Given the description of an element on the screen output the (x, y) to click on. 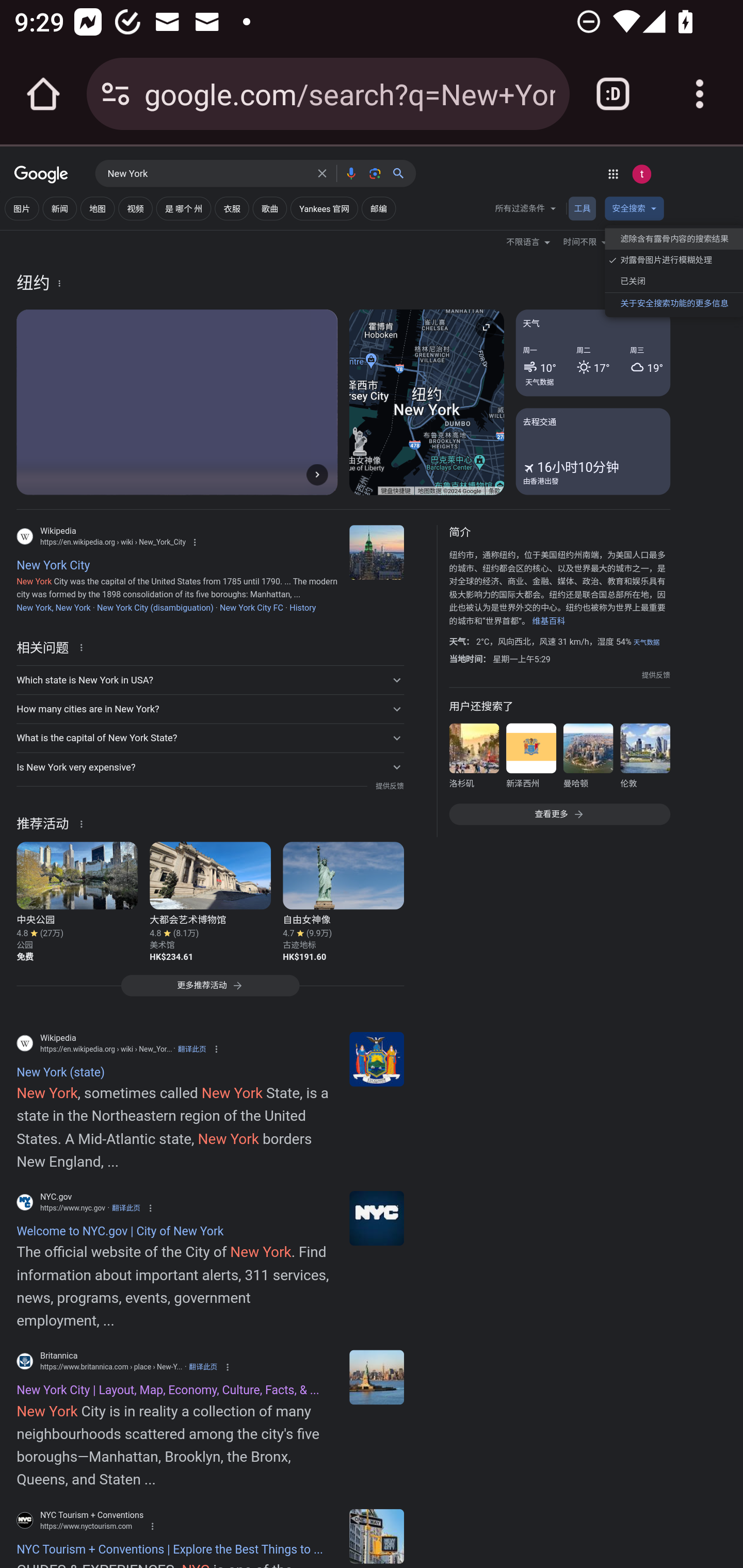
Open the home page (43, 93)
Connection is secure (115, 93)
Switch or close tabs (612, 93)
Customize and control Google Chrome (699, 93)
清除 (321, 172)
按语音搜索 (350, 172)
按图搜索 (374, 172)
搜索 (402, 172)
Google 应用 (612, 173)
Google 账号： test appium (testappium002@gmail.com) (641, 173)
Google (41, 175)
New York (207, 173)
图片 (21, 207)
新闻 (58, 207)
地图 (97, 207)
视频 (135, 207)
添加“是 哪个 州” 是 哪个 州 (183, 207)
添加“衣服” 衣服 (230, 207)
添加“歌曲” 歌曲 (269, 207)
添加“Yankees 官网” Yankees 官网 (323, 207)
添加“邮编” 邮编 (378, 207)
所有过滤条件 (525, 210)
工具 (582, 207)
安全搜索 (634, 210)
滤除含有露骨内容的搜索结果 (673, 238)
对露骨图片进行模糊处理, 已选择 (673, 260)
已关闭 (673, 281)
更多选项 (59, 282)
关于安全搜索功能的更多信息 (673, 302)
天气 周一 高温 10 度 周二 高温 17 度 周三 高温 19 度 (592, 352)
展开地图 (486, 326)
天气数据 (539, 381)
去程交通 16小时10分钟 乘坐飞机 由香港出發 (592, 450)
下一张图片 (316, 474)
New_York_City (376, 552)
New York, New York (53, 608)
New York City (disambiguation) (154, 608)
New York City FC (250, 608)
History (302, 608)
维基百科 (548, 620)
天气数据 (646, 642)
关于这条结果的详细信息 (83, 647)
Which state is New York in USA? (210, 679)
提供反馈 (655, 674)
How many cities are in New York? (210, 708)
洛杉矶 (473, 758)
新泽西州 (530, 758)
曼哈顿 (587, 758)
伦敦 (644, 758)
What is the capital of New York State? (210, 737)
Is New York very expensive? (210, 766)
提供反馈 (389, 785)
查看更多 查看更多 查看更多 (559, 813)
关于这条结果的详细信息 (83, 822)
更多推荐活动 (210, 989)
New_York_(state) (376, 1058)
翻译此页 (191, 1048)
www.nyc (376, 1218)
翻译此页 (125, 1207)
New-York-City (376, 1377)
翻译此页 (202, 1366)
www.nyctourism (376, 1535)
